Given the description of an element on the screen output the (x, y) to click on. 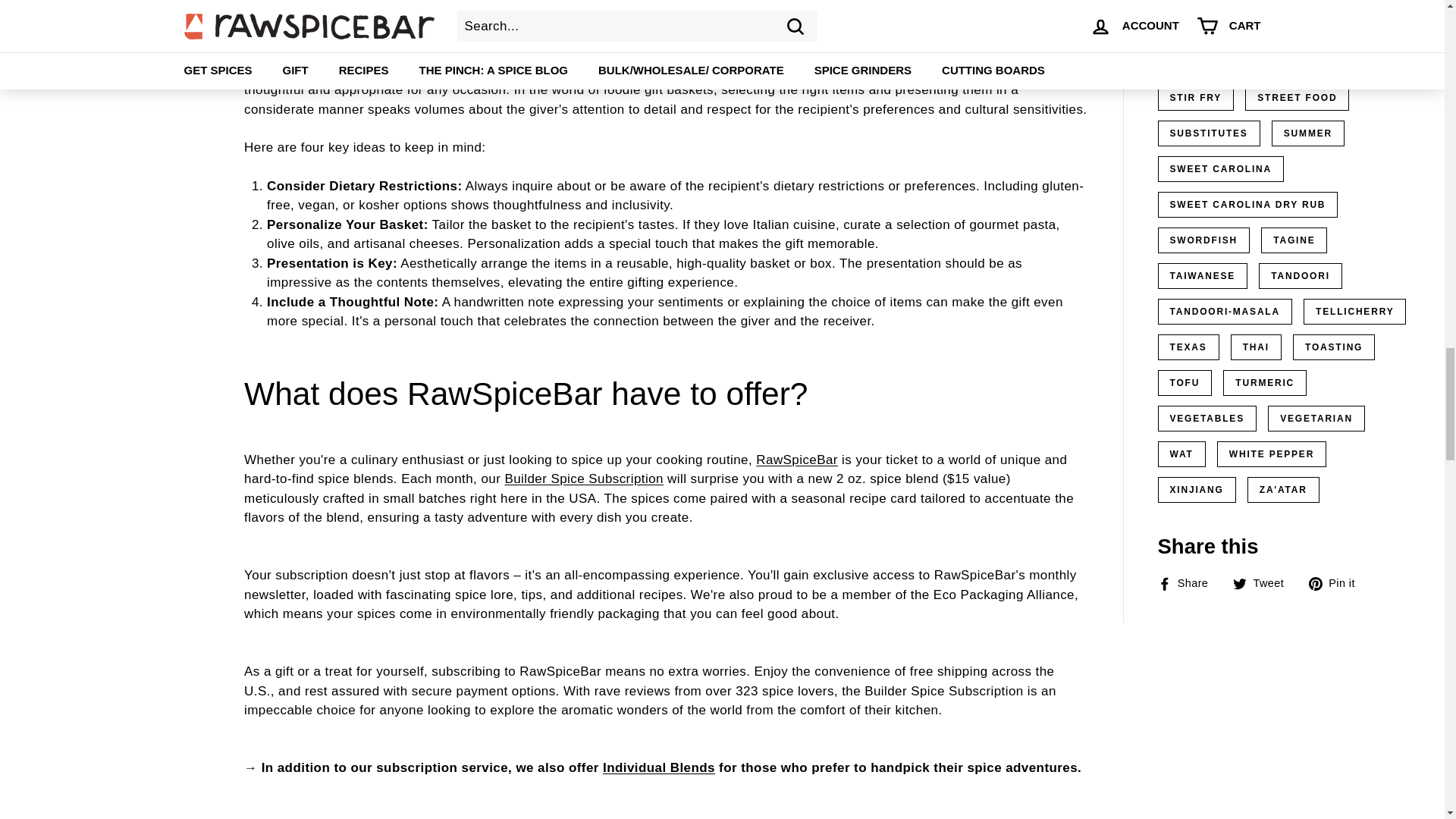
Tweet on Twitter (1264, 582)
Share on Facebook (1188, 582)
Pin on Pinterest (1337, 582)
